Given the description of an element on the screen output the (x, y) to click on. 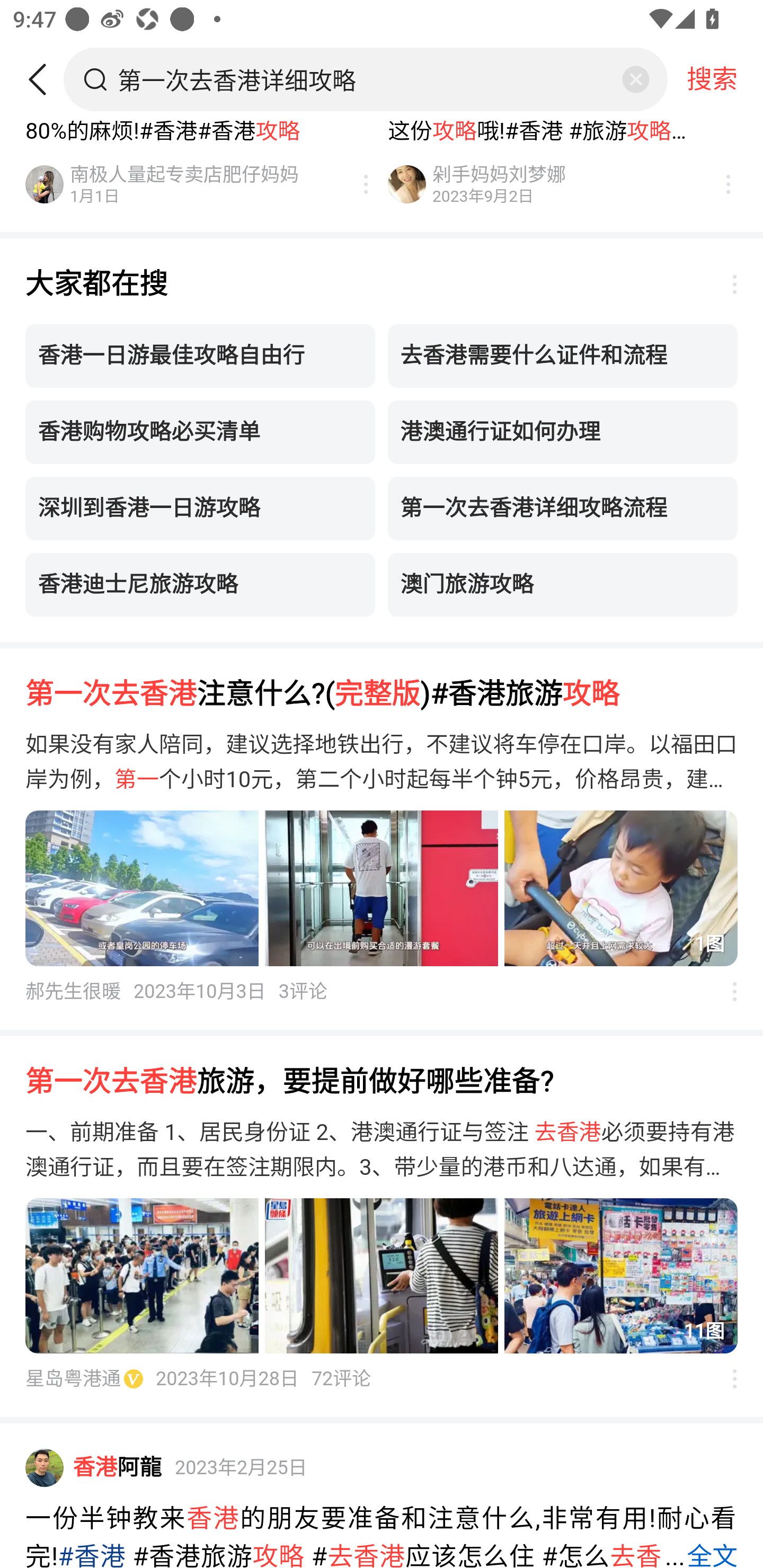
搜索框，第一次去香港详细攻略 (366, 79)
搜索 (711, 79)
返回 (44, 79)
清除 (635, 79)
南极人量起专卖店肥仔妈妈 1月1日 (174, 186)
剁手妈妈刘梦娜 2023年9月2日 (536, 186)
举报反馈 (355, 186)
举报反馈 (717, 186)
举报反馈 (724, 286)
香港一日游最佳攻略自由行 (200, 358)
去香港需要什么证件和流程 (562, 358)
香港购物攻略必买清单 (200, 434)
港澳通行证如何办理 (562, 434)
深圳到香港一日游攻略 (200, 511)
第一次去香港详细攻略流程 (562, 511)
香港迪士尼旅游攻略 (200, 587)
澳门旅游攻略 (562, 587)
郝先生很暖 2023年10月3日3评论 (176, 992)
举报反馈 (724, 992)
第一次去香港旅游，要提前做好哪些准备? 第一次去香港 旅游，要提前做好哪些准备? (381, 1082)
星岛粤港通 2023年10月28日72评论 (198, 1380)
举报反馈 (724, 1380)
香港阿龍 2023年2月25日 (381, 1468)
全文 (711, 1553)
#香港 (92, 1554)
